Given the description of an element on the screen output the (x, y) to click on. 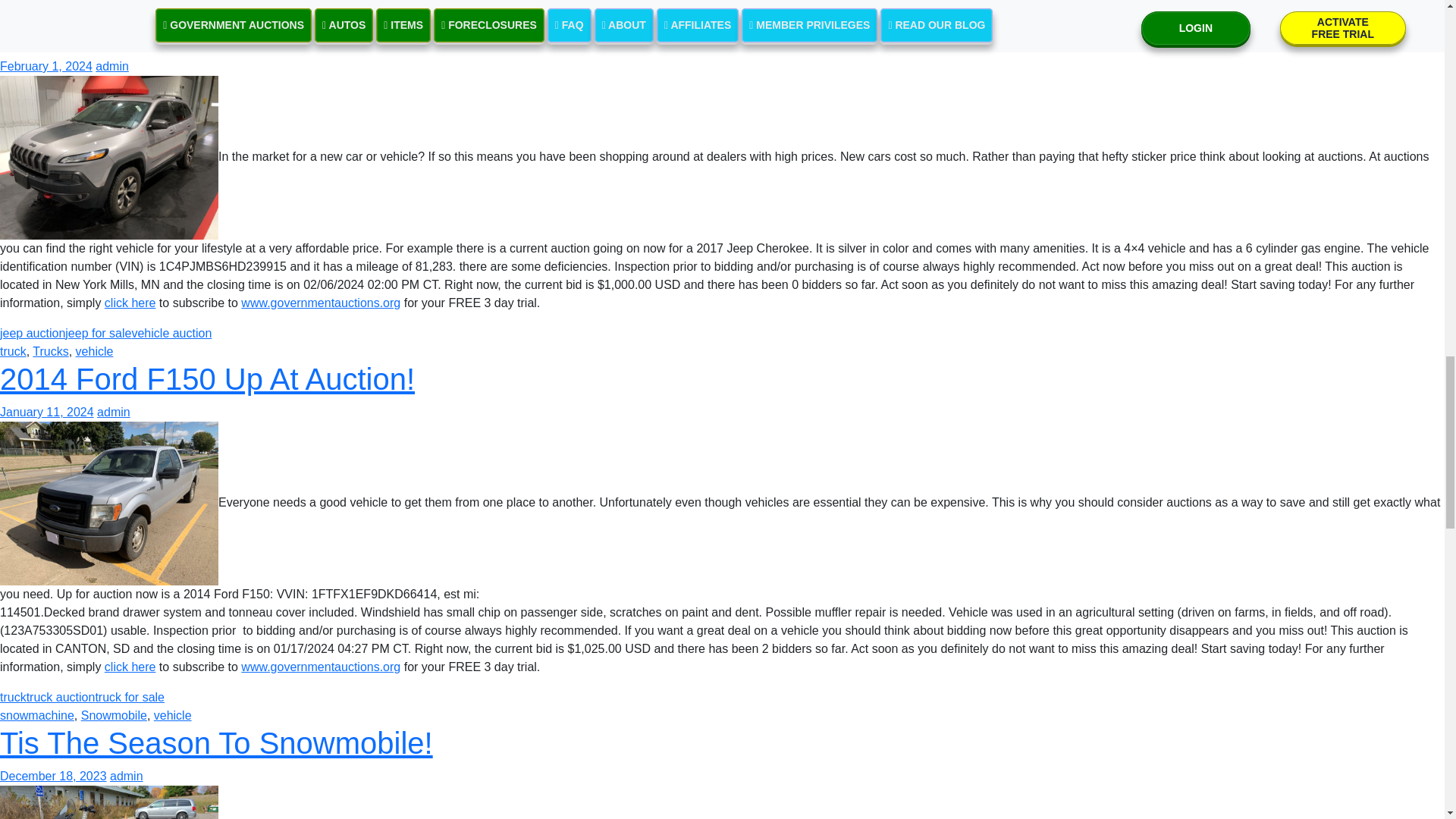
View all posts in jeep (11, 6)
View all posts in SUV (40, 6)
View all posts in vehicle (78, 6)
